Given the description of an element on the screen output the (x, y) to click on. 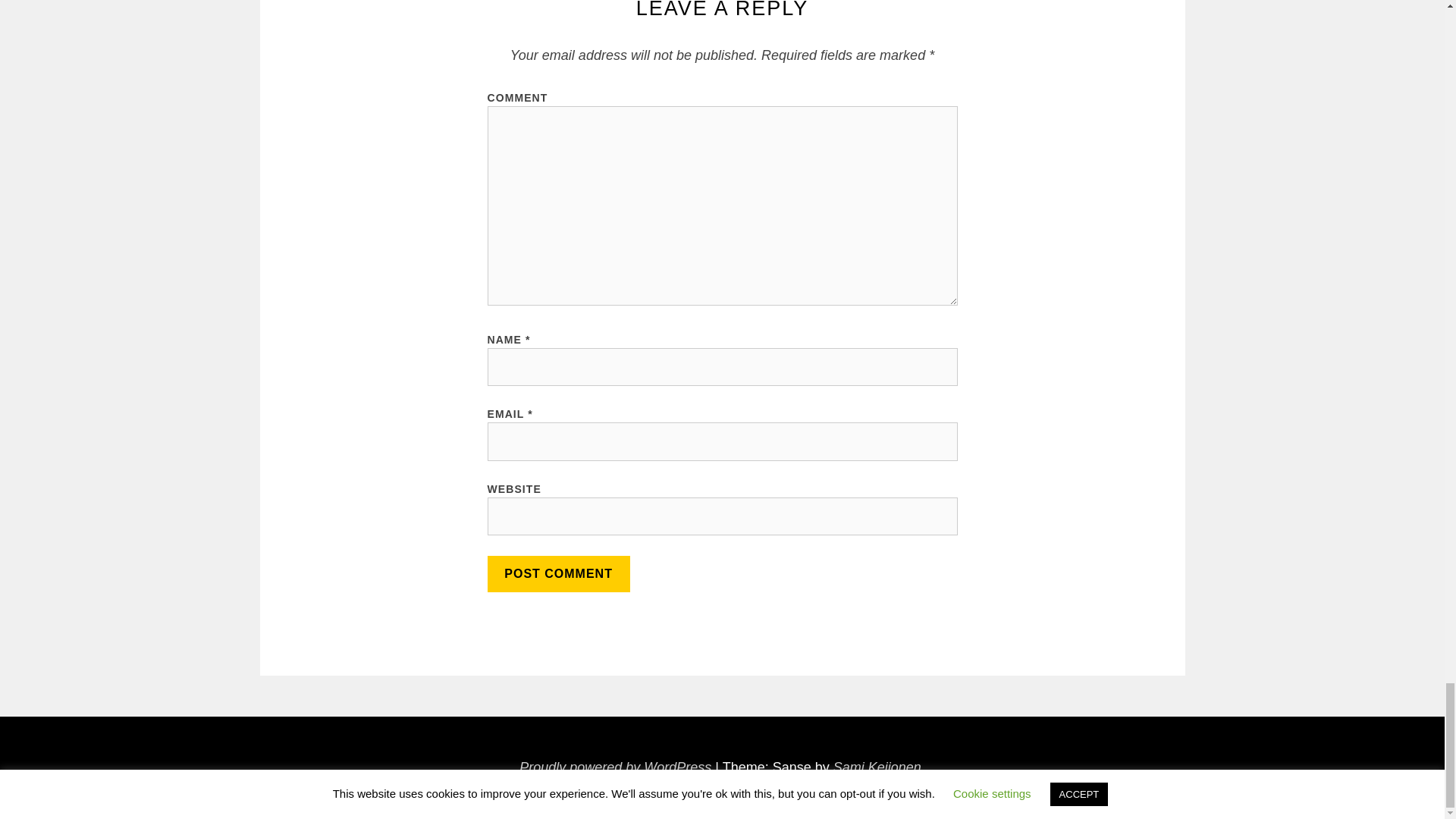
Post Comment (557, 574)
Sami Keijonen (876, 768)
Post Comment (557, 574)
Proudly powered by WordPress (615, 768)
